Given the description of an element on the screen output the (x, y) to click on. 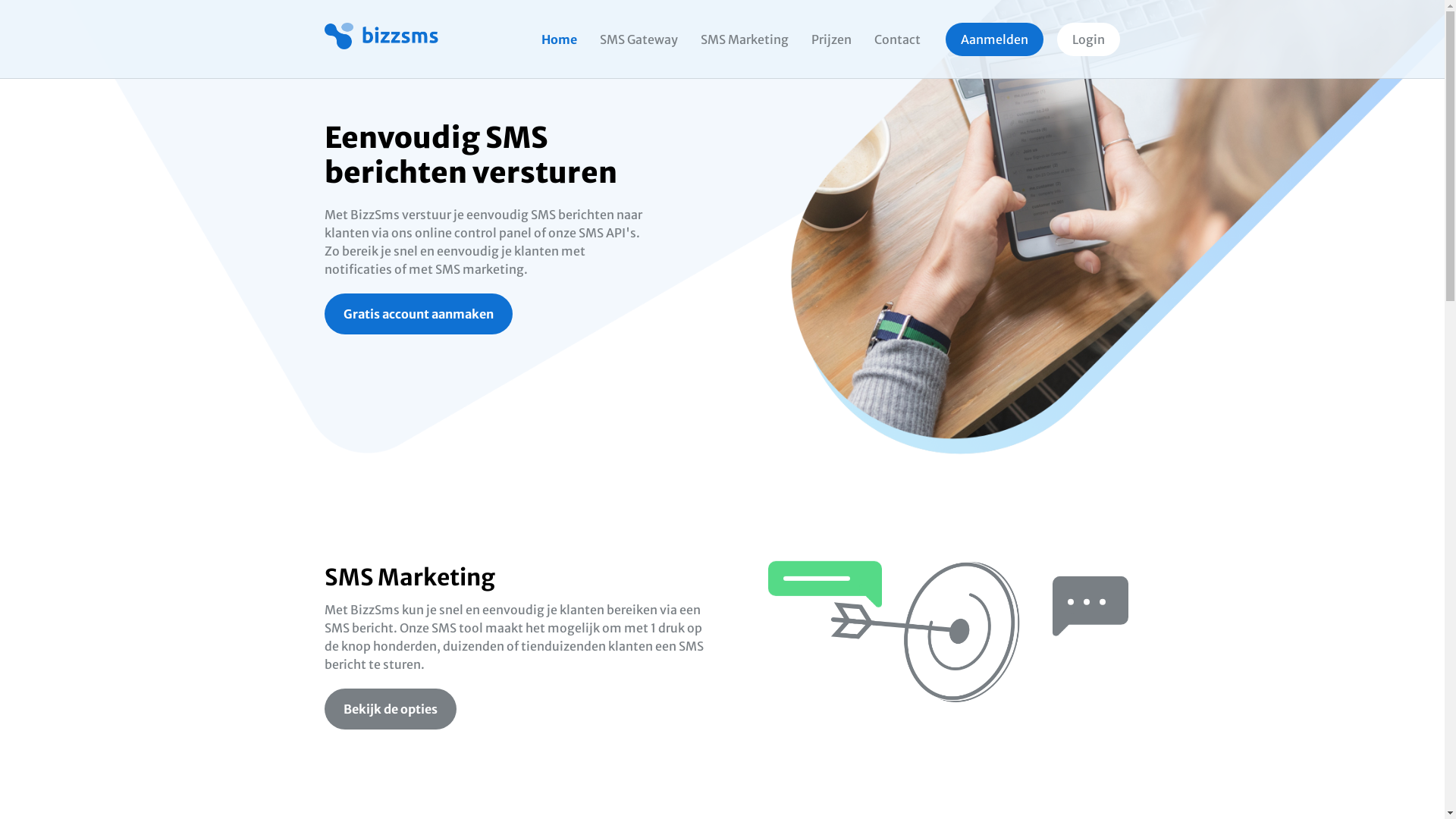
Home Element type: text (559, 39)
SMS Marketing Element type: text (744, 39)
Contact Element type: text (896, 39)
Bekijk de opties Element type: text (390, 708)
Login Element type: text (1088, 39)
Prijzen Element type: text (831, 39)
Aanmelden Element type: text (994, 39)
SMS Gateway Element type: text (638, 39)
Gratis account aanmaken Element type: text (418, 313)
